Given the description of an element on the screen output the (x, y) to click on. 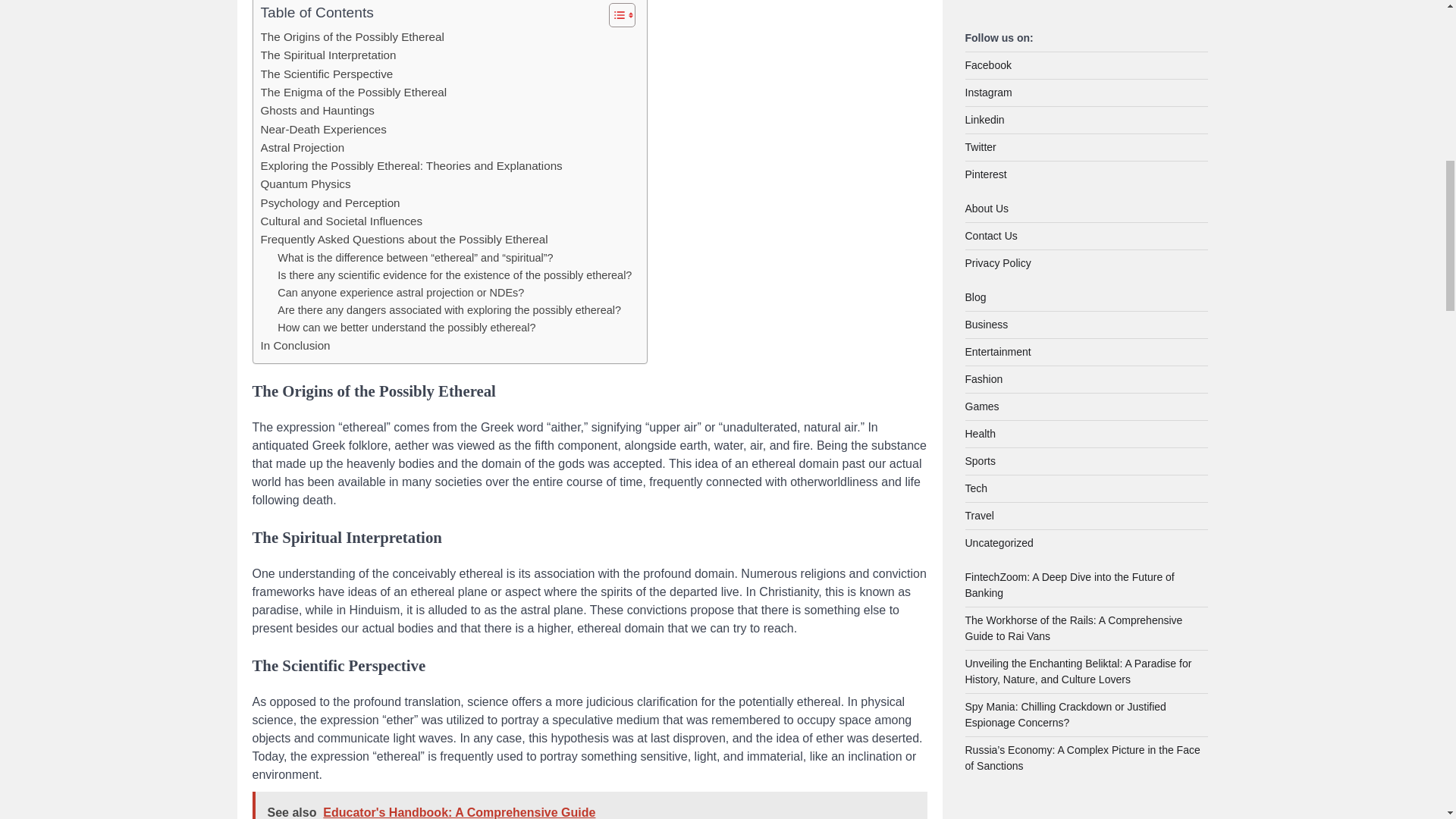
Cultural and Societal Influences (341, 221)
The Origins of the Possibly Ethereal (352, 36)
Psychology and Perception (330, 203)
Can anyone experience astral projection or NDEs? (401, 293)
Frequently Asked Questions about the Possibly Ethereal (404, 239)
The Scientific Perspective (326, 74)
In Conclusion (295, 345)
The Origins of the Possibly Ethereal (352, 36)
Astral Projection (302, 147)
Psychology and Perception (330, 203)
Ghosts and Hauntings (317, 110)
Cultural and Societal Influences (341, 221)
Can anyone experience astral projection or NDEs? (401, 293)
How can we better understand the possibly ethereal? (406, 327)
Quantum Physics (305, 184)
